Given the description of an element on the screen output the (x, y) to click on. 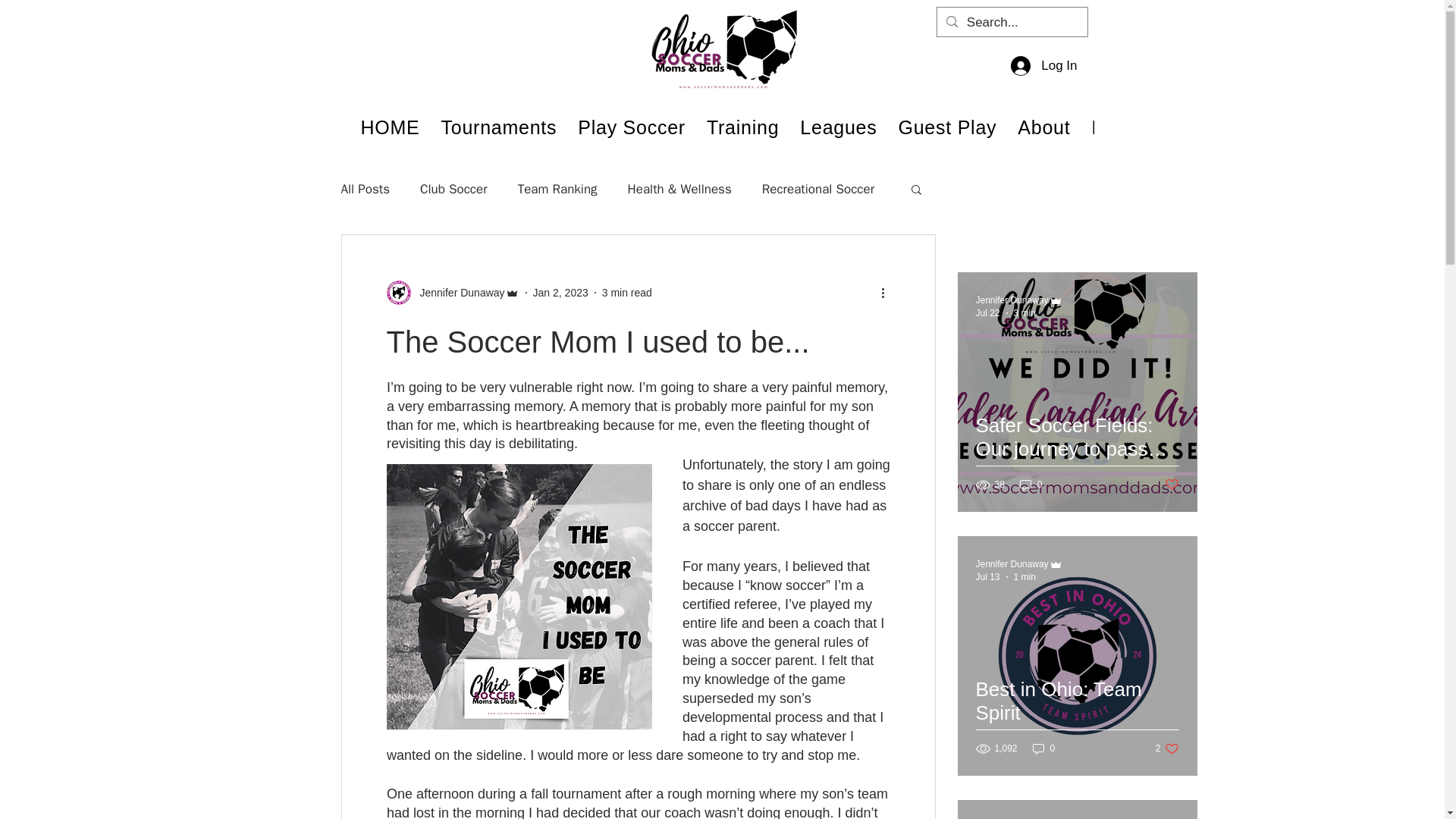
All Posts (365, 189)
Jennifer Dunaway (1011, 563)
3 min read (627, 292)
Jennifer Dunaway (457, 293)
Recreational Soccer (818, 189)
Club Soccer (453, 189)
1 min (1024, 576)
HOME (390, 127)
Jul 13 (986, 576)
